Given the description of an element on the screen output the (x, y) to click on. 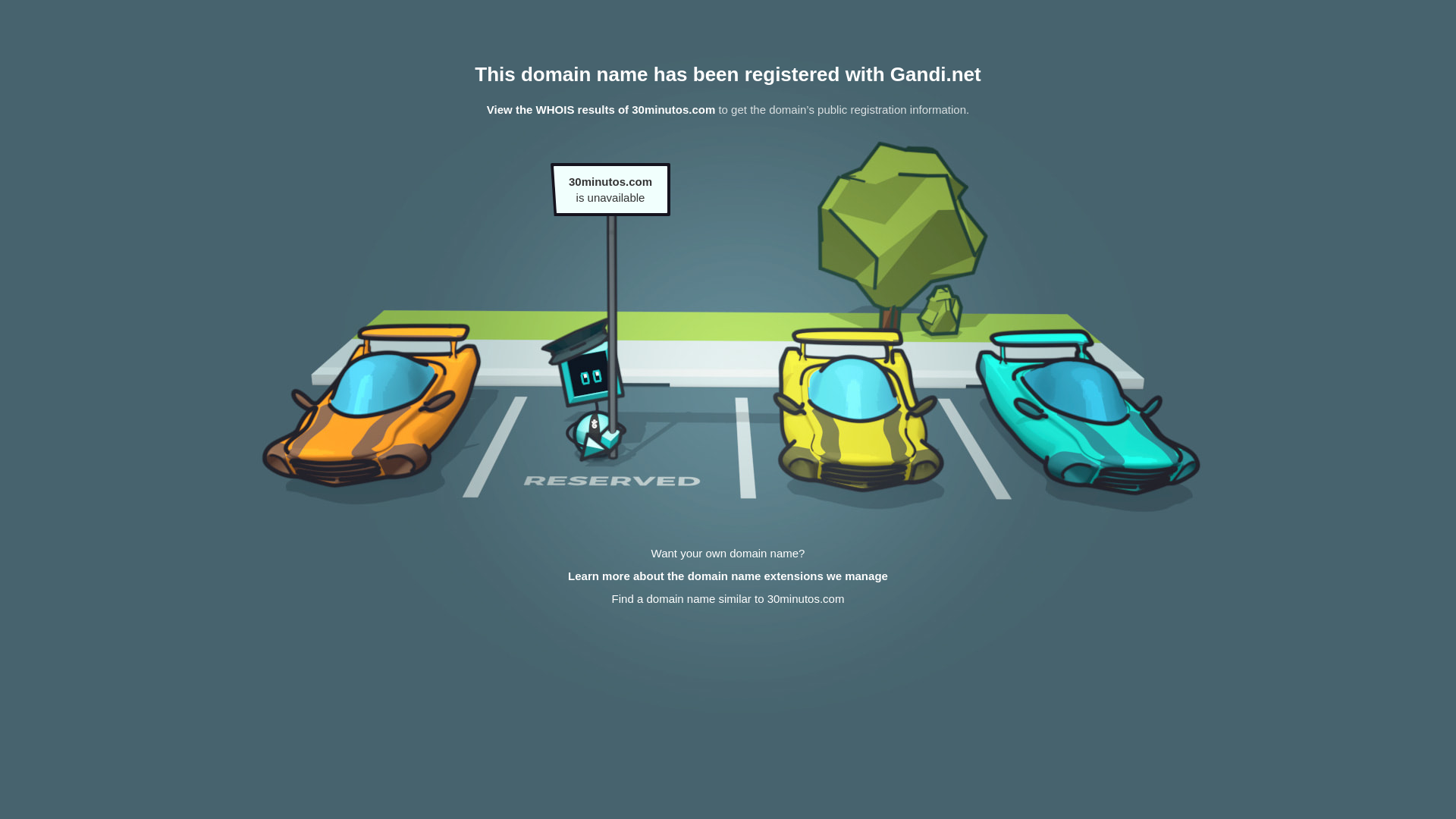
Learn more about the domain name extensions we manage Element type: text (727, 575)
View the WHOIS results of 30minutos.com Element type: text (600, 109)
Find a domain name similar to 30minutos.com Element type: text (727, 598)
